Given the description of an element on the screen output the (x, y) to click on. 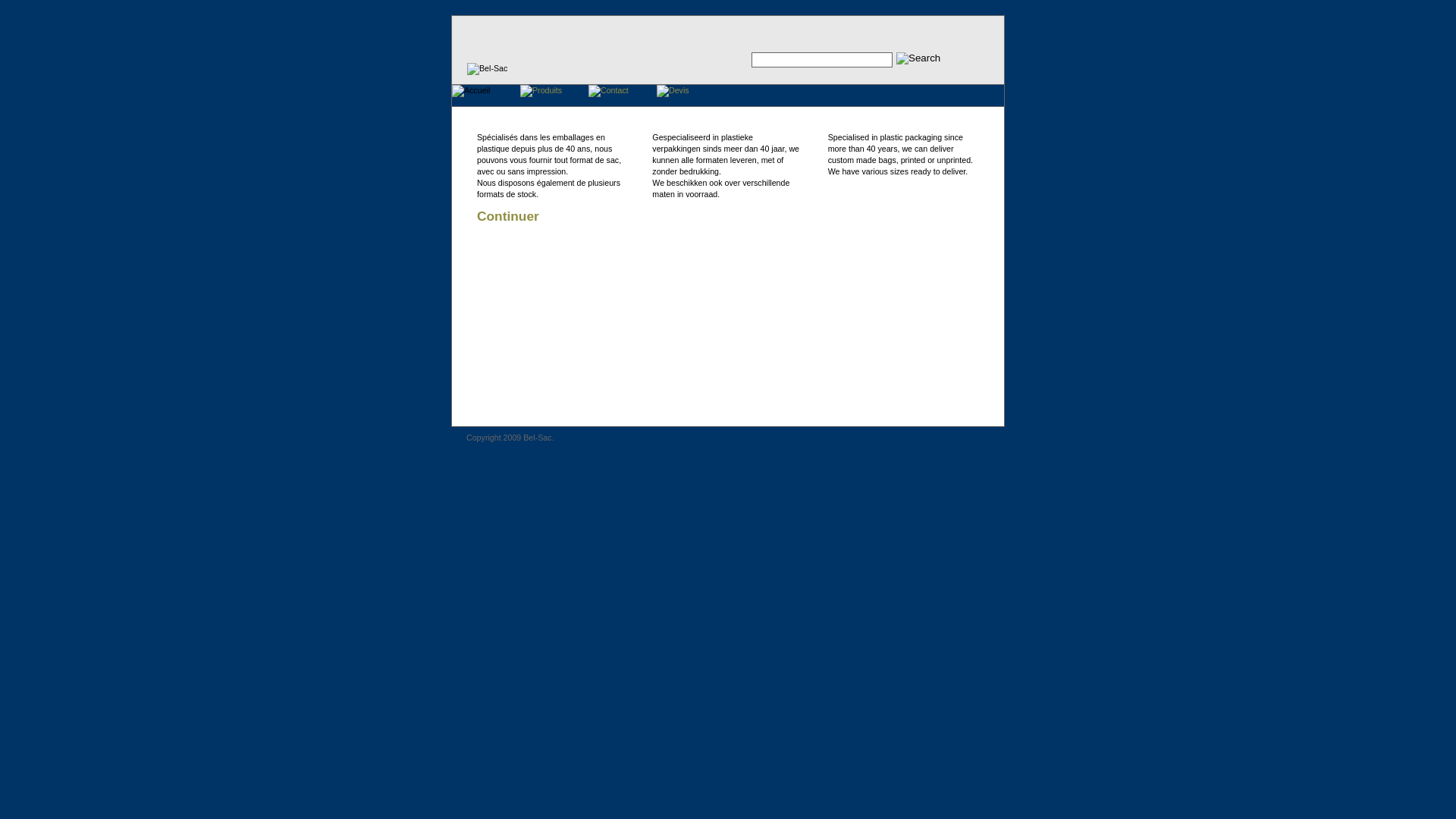
Continuer Element type: text (507, 215)
Bel-Sac Element type: hover (487, 68)
